Given the description of an element on the screen output the (x, y) to click on. 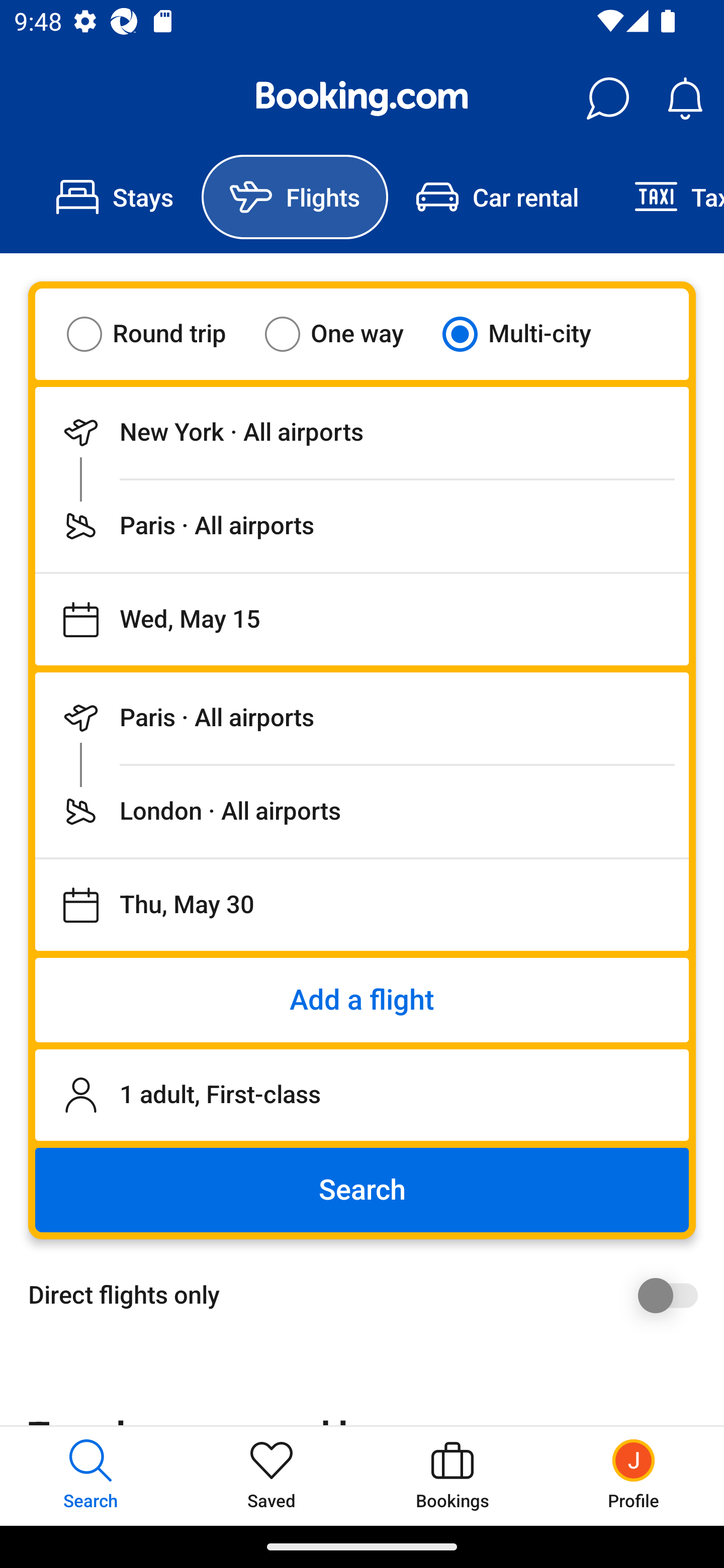
Messages (607, 98)
Notifications (685, 98)
Stays (114, 197)
Flights (294, 197)
Car rental (497, 197)
Taxi (665, 197)
Round trip (158, 333)
One way (346, 333)
Flight 1, departing from New York · All airports (361, 432)
Flight 1, flying to Paris · All airports (361, 525)
Flight 1 departing on Wed, May 15 (361, 618)
Flight 2, departing from Paris · All airports (361, 717)
Flight 2, flying to London · All airports (361, 811)
Flight 2 departing on Wed, May 15 (361, 904)
Add a flight (361, 1000)
1 adult, First-class (361, 1094)
Search (361, 1189)
Direct flights only (369, 1294)
Saved (271, 1475)
Bookings (452, 1475)
Profile (633, 1475)
